Given the description of an element on the screen output the (x, y) to click on. 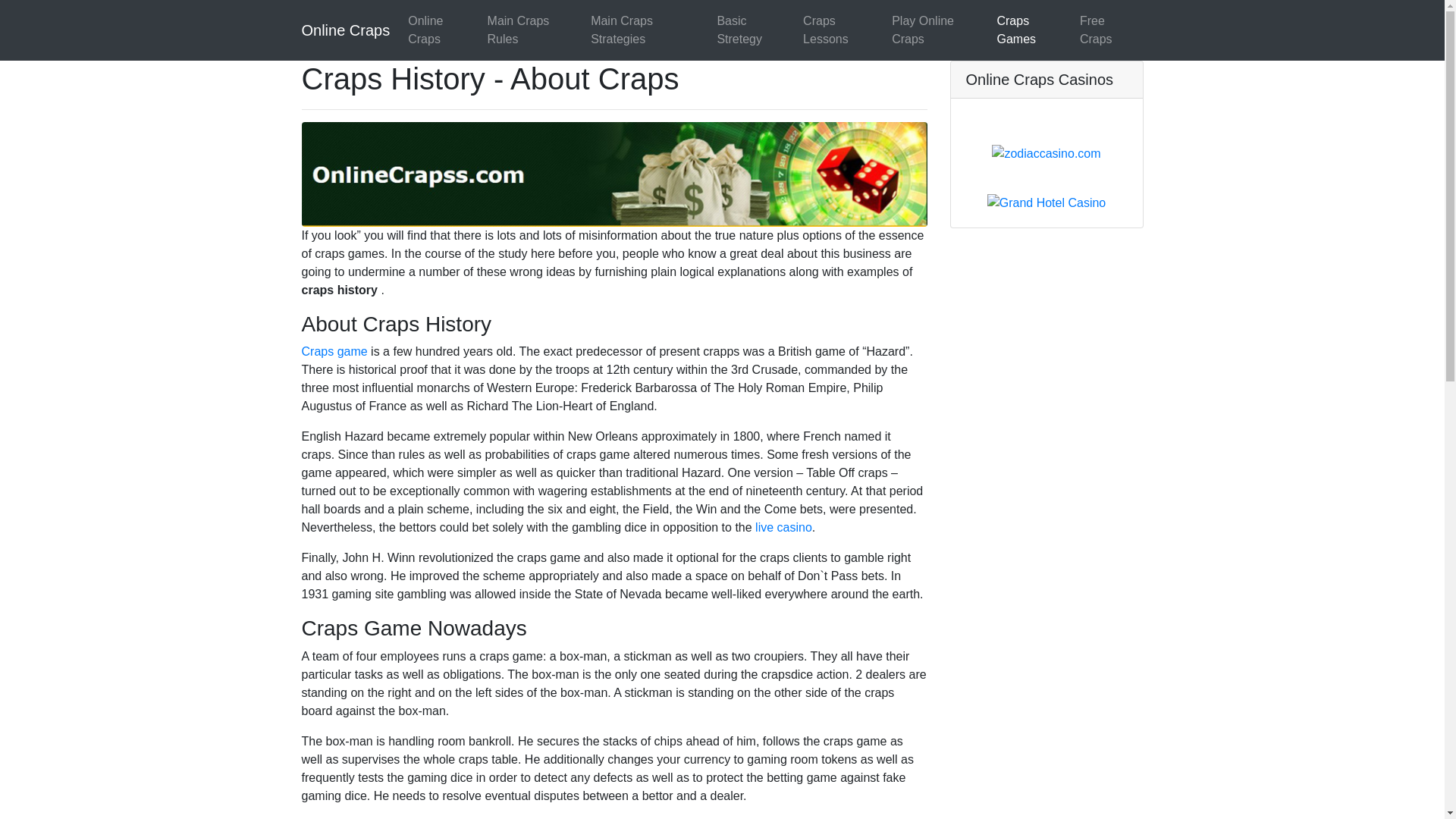
Main Craps Rules (533, 29)
zodiaccasino.com (1045, 152)
Basic Stretegy (753, 29)
Grand Hotel Casino (1046, 201)
Online Craps (345, 30)
live casino (783, 526)
Main Craps Strategies (647, 29)
Craps Games (1031, 29)
Play Online Craps (937, 29)
Free Craps (1108, 29)
Craps Lessons (840, 29)
Craps game (334, 350)
